Given the description of an element on the screen output the (x, y) to click on. 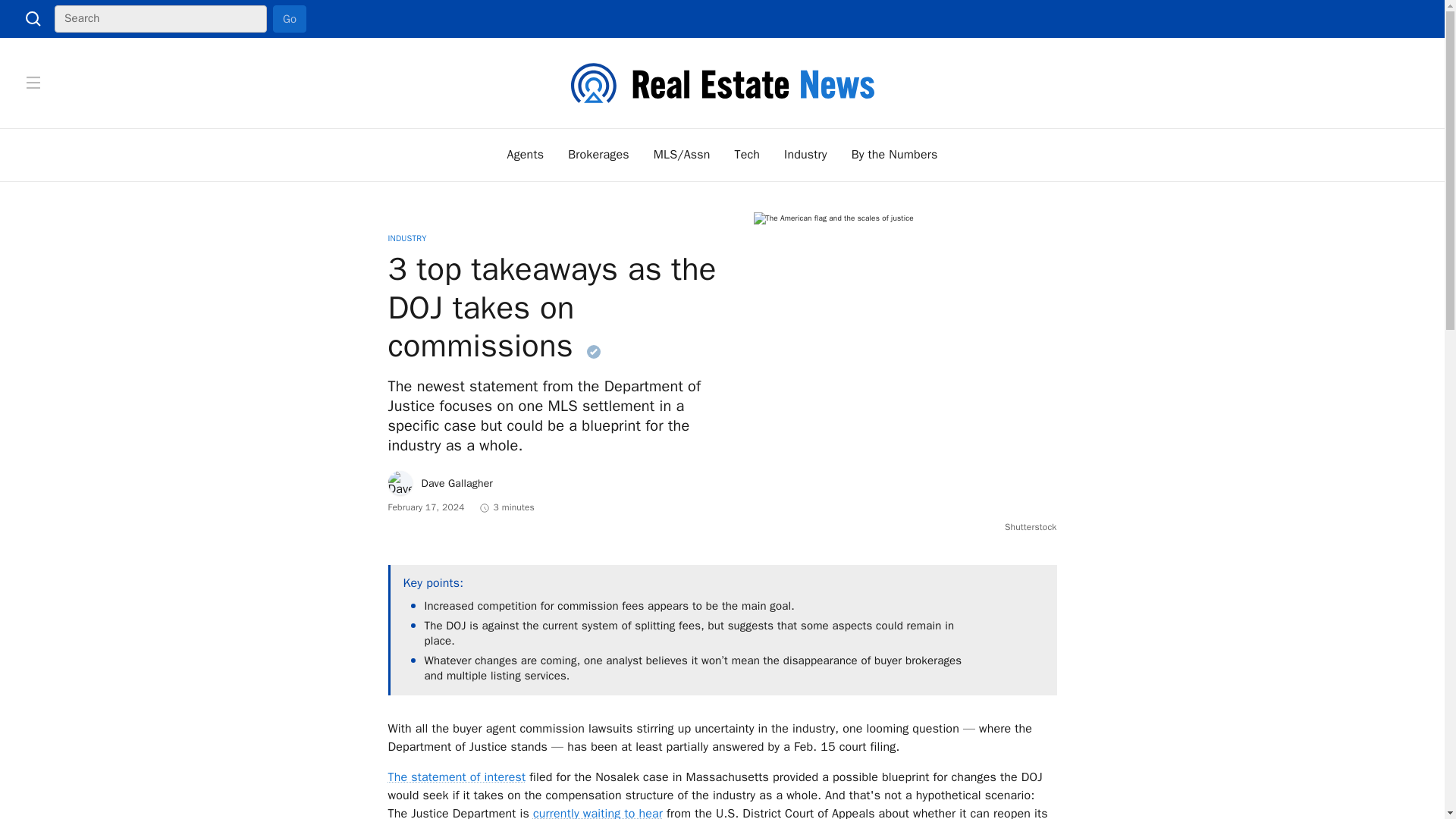
Agents (525, 154)
Tech (747, 154)
By the Numbers (894, 154)
Go (289, 18)
Verified (592, 351)
INDUSTRY (407, 237)
Industry (805, 154)
currently waiting to hear (597, 812)
Dave Gallagher (440, 482)
Brokerages (597, 154)
The statement of interest (456, 776)
